Given the description of an element on the screen output the (x, y) to click on. 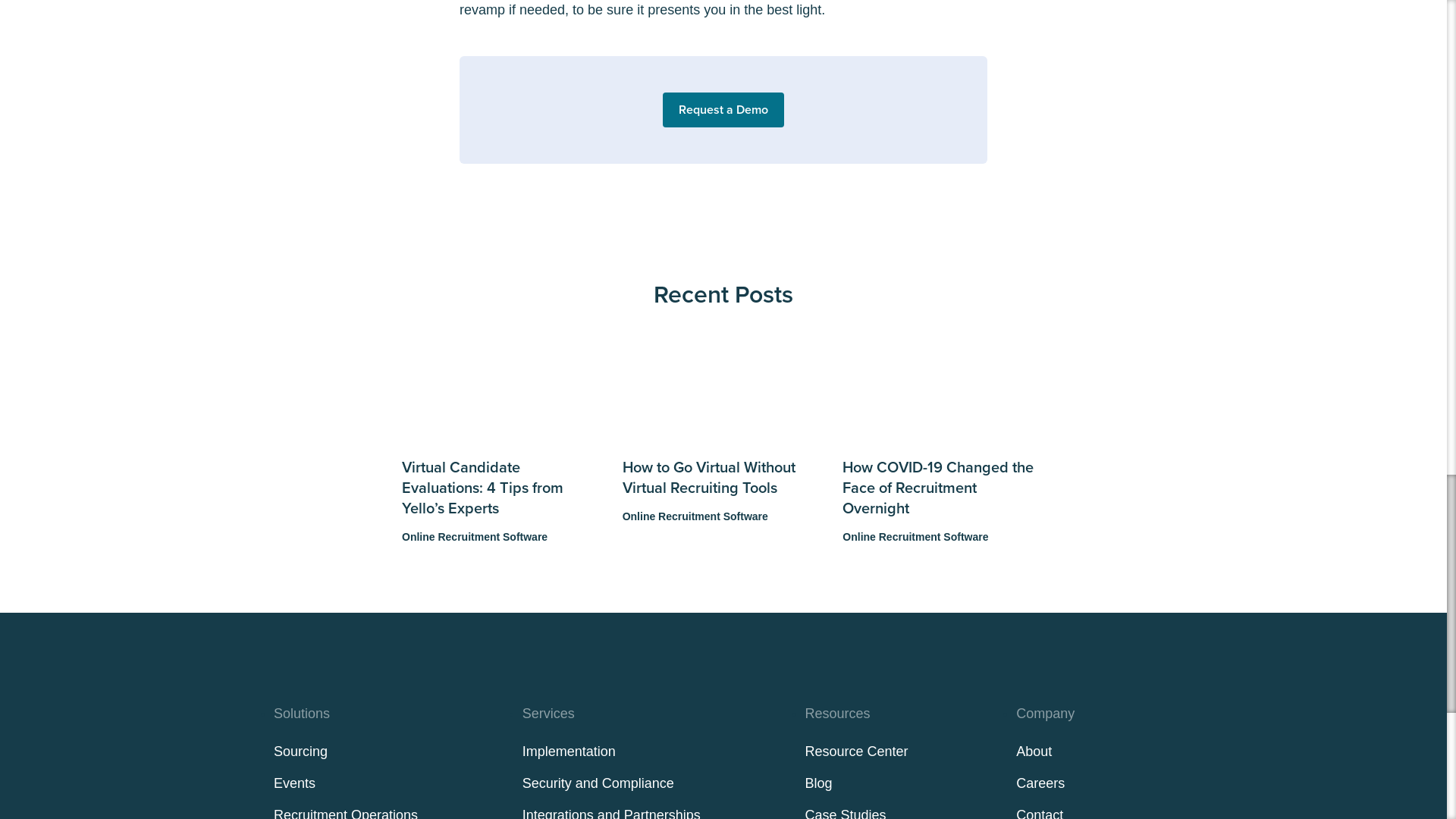
Sourcing (300, 751)
Solutions (301, 713)
Events (294, 783)
Recruitment Operations (345, 813)
Request a Demo (723, 109)
